Given the description of an element on the screen output the (x, y) to click on. 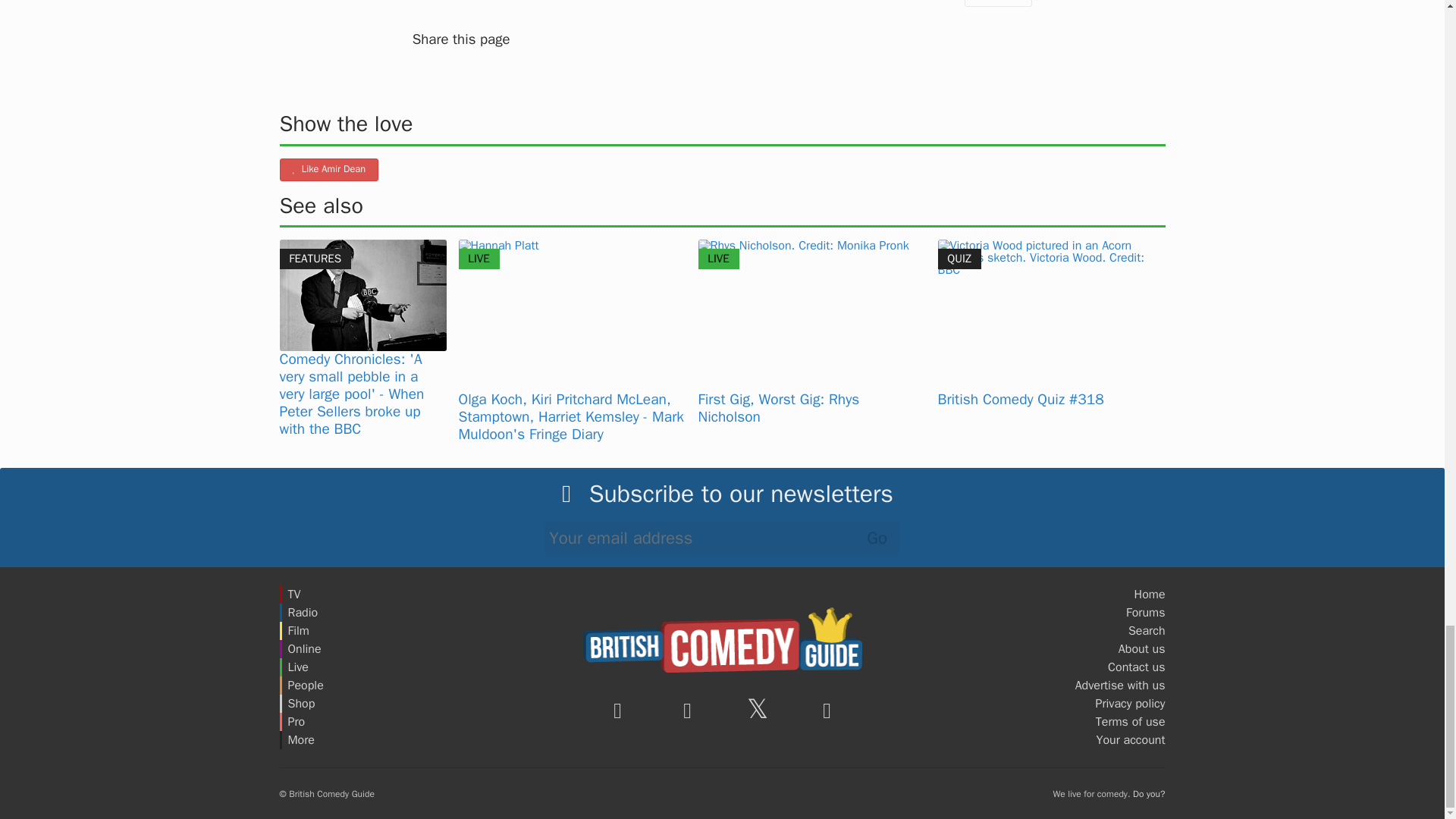
Like for updates and more (328, 169)
Go (876, 538)
Hannah Platt (571, 315)
First Gig, Worst Gig: Rhys Nicholson (778, 407)
Random 8 (997, 3)
Rhys Nicholson. Credit: Monika Pronk (810, 315)
Like Amir Dean (328, 169)
